Given the description of an element on the screen output the (x, y) to click on. 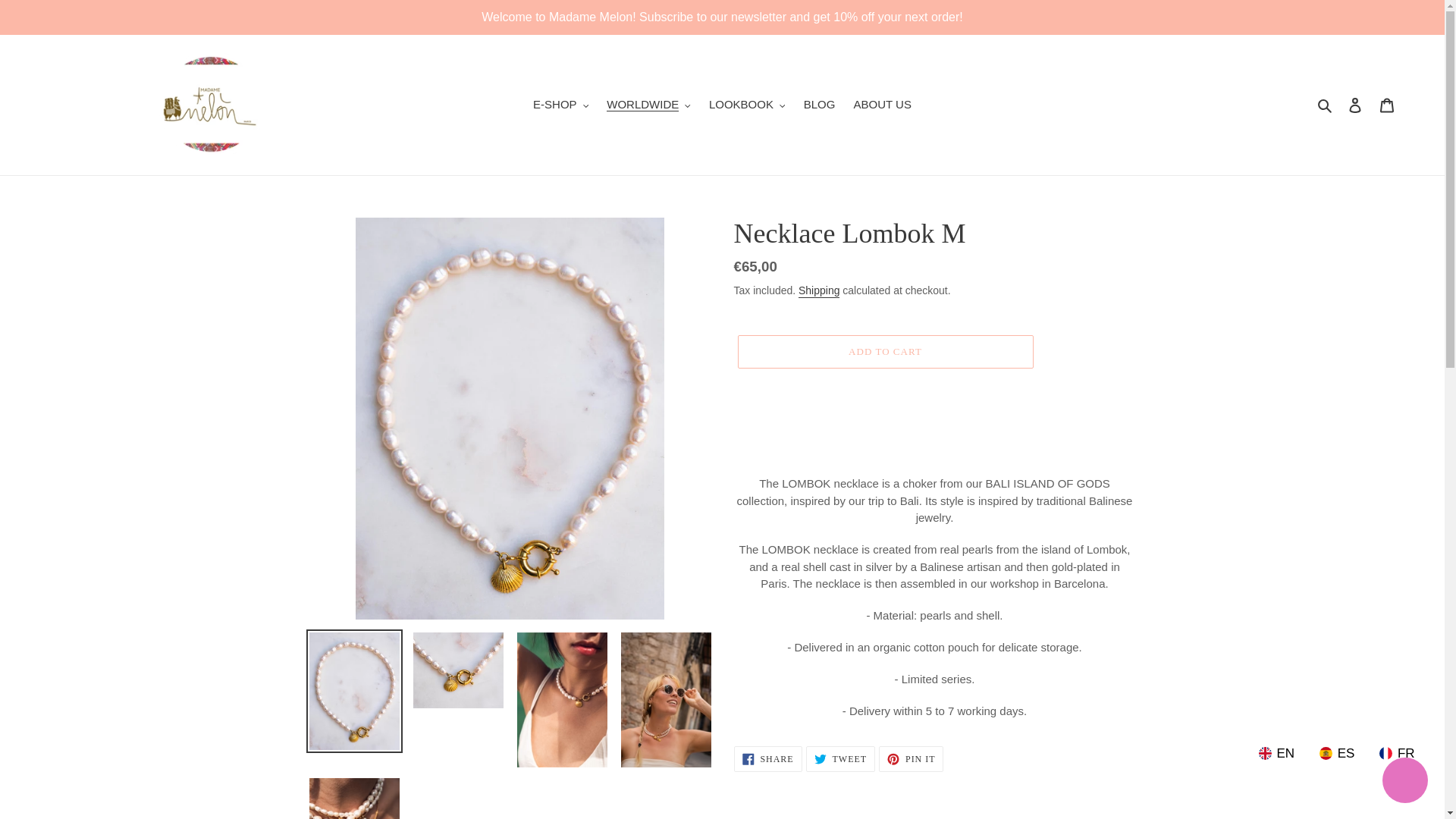
Log in (1355, 104)
Cart (1387, 104)
BLOG (819, 105)
Search (1326, 104)
E-SHOP (560, 105)
ABOUT US (881, 105)
Shopify online store chat (1404, 781)
LOOKBOOK (747, 105)
WORLDWIDE (648, 105)
